Given the description of an element on the screen output the (x, y) to click on. 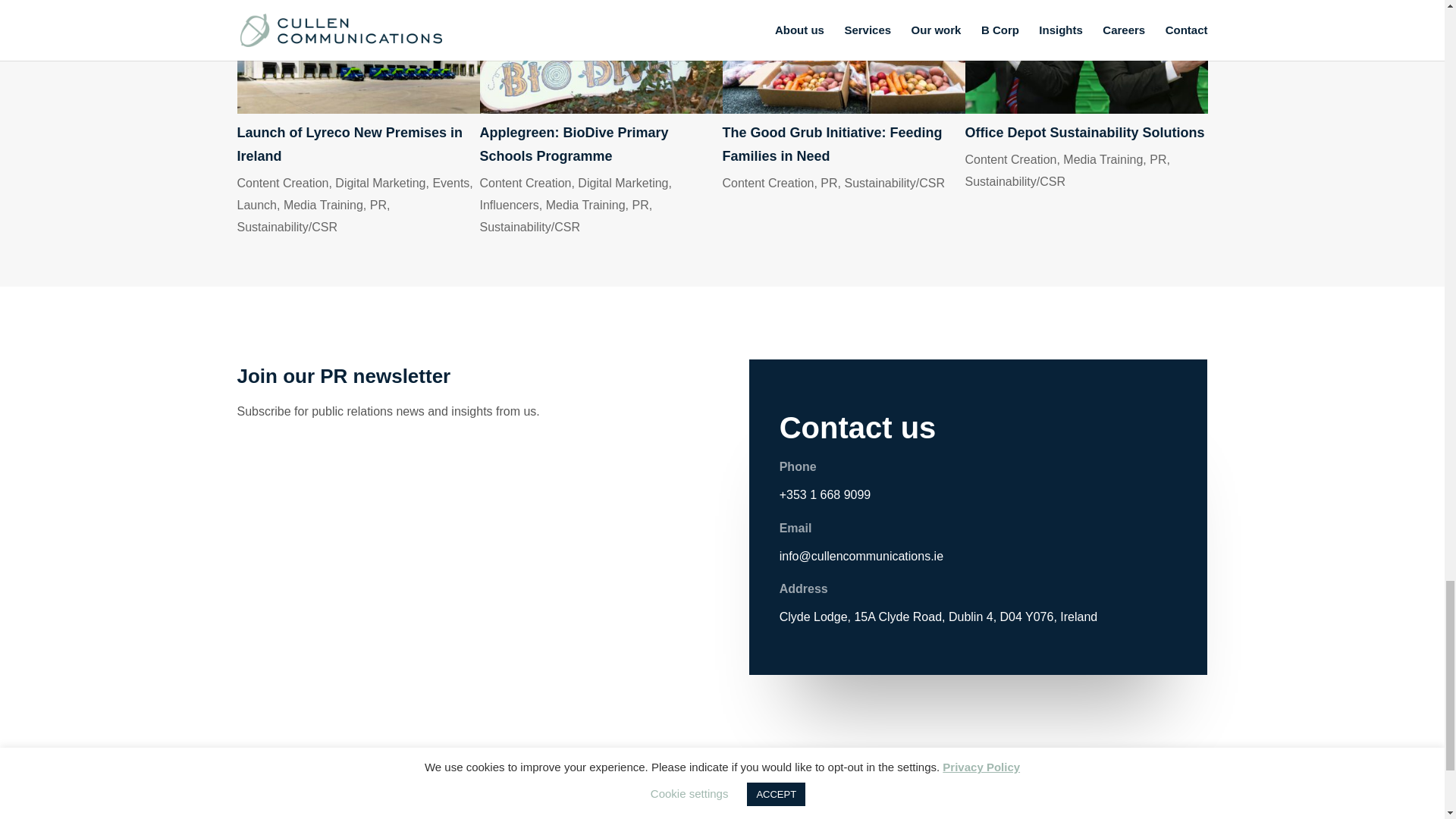
Digital Marketing (623, 182)
PR (640, 205)
Events (450, 182)
Applegreen: BioDive Primary Schools Programme (600, 56)
The Good Grub Initiative: Feeding Families in Need (832, 144)
Media Training (322, 205)
Office Depot Sustainability Solutions (1083, 132)
Media Training (322, 205)
Events (450, 182)
Content Creation (524, 182)
Content Creation (282, 182)
PR (378, 205)
Applegreen: BioDive Primary Schools Programme (573, 144)
Launch of Lyreco New Premises in Ireland (357, 56)
Launch (255, 205)
